Given the description of an element on the screen output the (x, y) to click on. 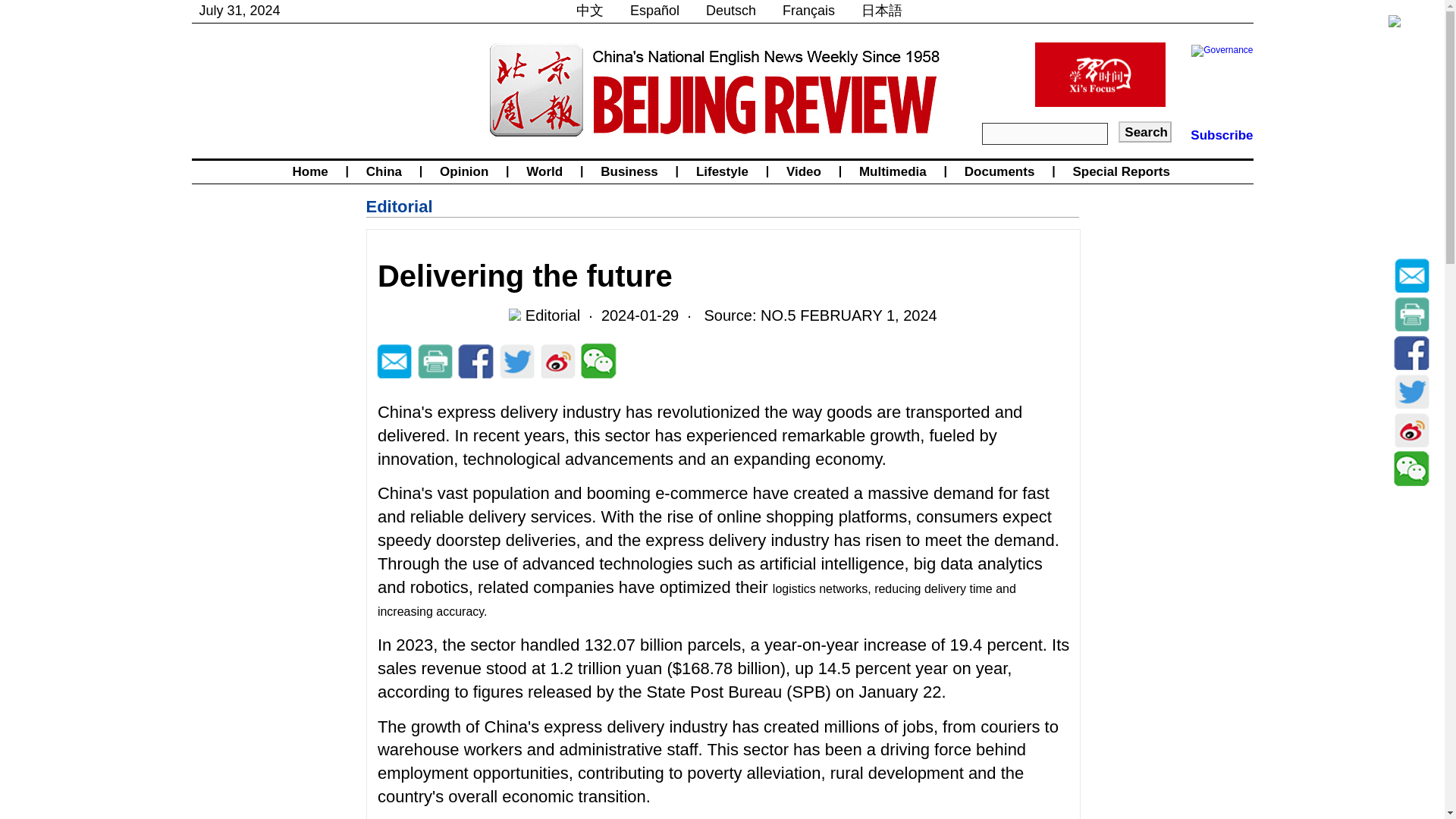
World (544, 171)
Lifestyle (722, 171)
China (384, 171)
Deutsch (730, 10)
Business (629, 171)
Opinion (463, 171)
Editorial (398, 206)
Search (1145, 131)
Search (1145, 131)
Subscribe (1221, 134)
Home (309, 171)
Video (804, 171)
